Given the description of an element on the screen output the (x, y) to click on. 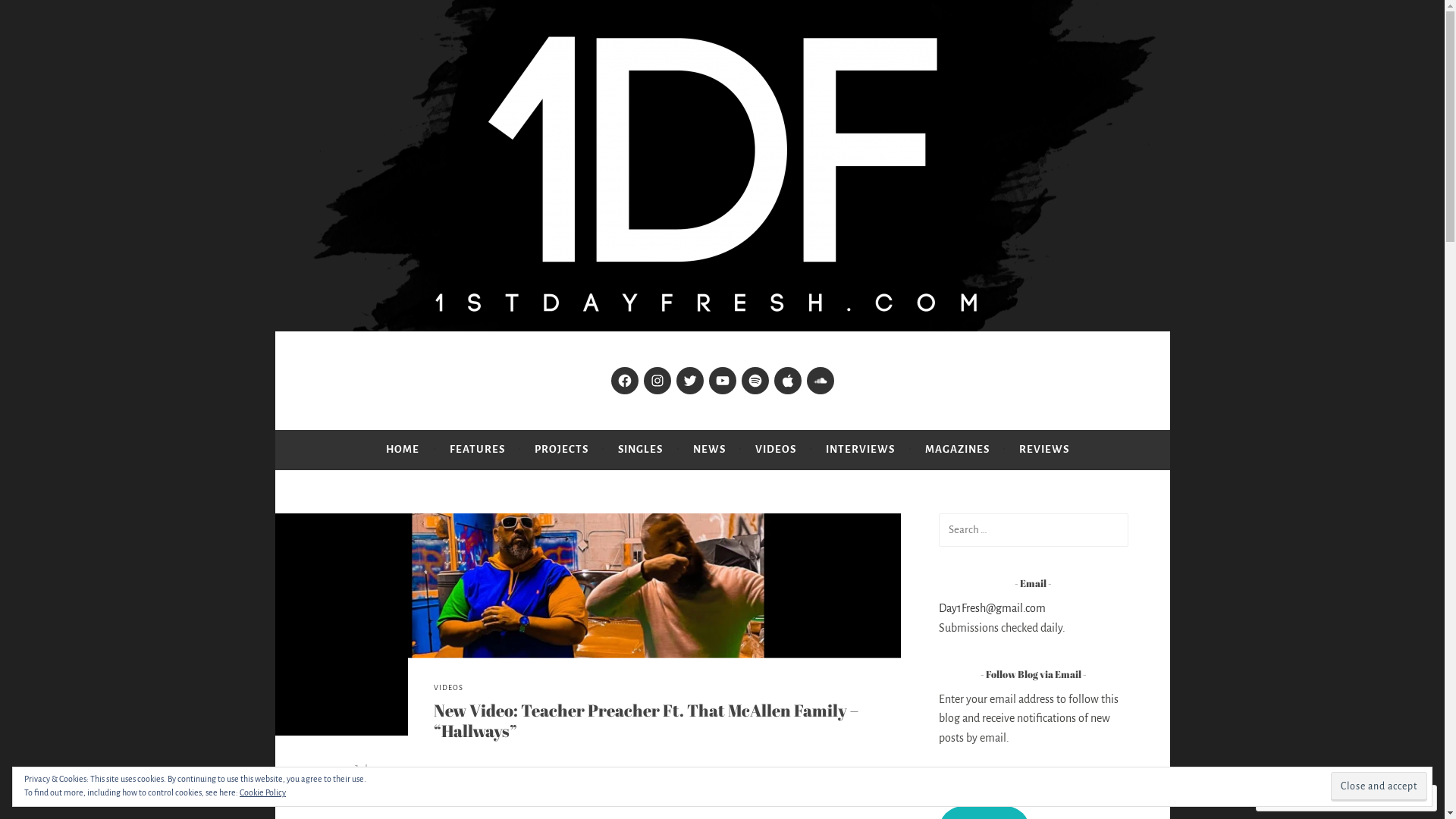
Close and accept Element type: text (1378, 786)
SINGLES Element type: text (640, 449)
NEWS Element type: text (709, 449)
VIDEOS Element type: text (775, 449)
Day1Fresh@gmail.com Element type: text (991, 608)
INTERVIEWS Element type: text (859, 449)
Comment Element type: text (1297, 797)
Follow Element type: text (1372, 797)
Cookie Policy Element type: text (262, 792)
bigburr Element type: text (390, 793)
PROJECTS Element type: text (561, 449)
1stDayFresh.com Element type: text (376, 371)
July 4, 2022 Element type: text (381, 769)
VIDEOS Element type: text (448, 687)
MAGAZINES Element type: text (957, 449)
FEATURES Element type: text (477, 449)
Search Element type: text (32, 15)
REVIEWS Element type: text (1044, 449)
HOME Element type: text (402, 449)
